Given the description of an element on the screen output the (x, y) to click on. 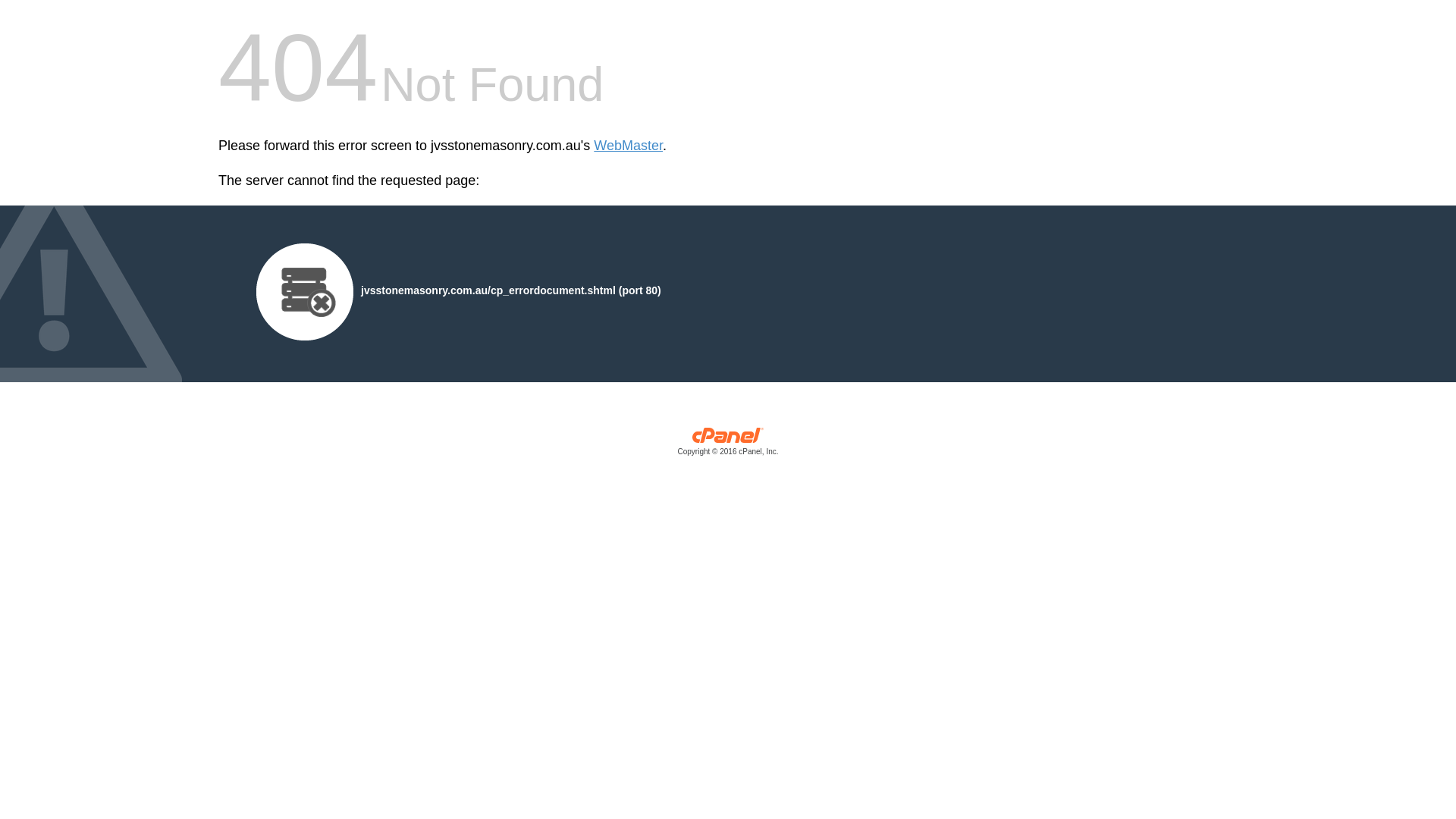
WebMaster Element type: text (627, 145)
